Given the description of an element on the screen output the (x, y) to click on. 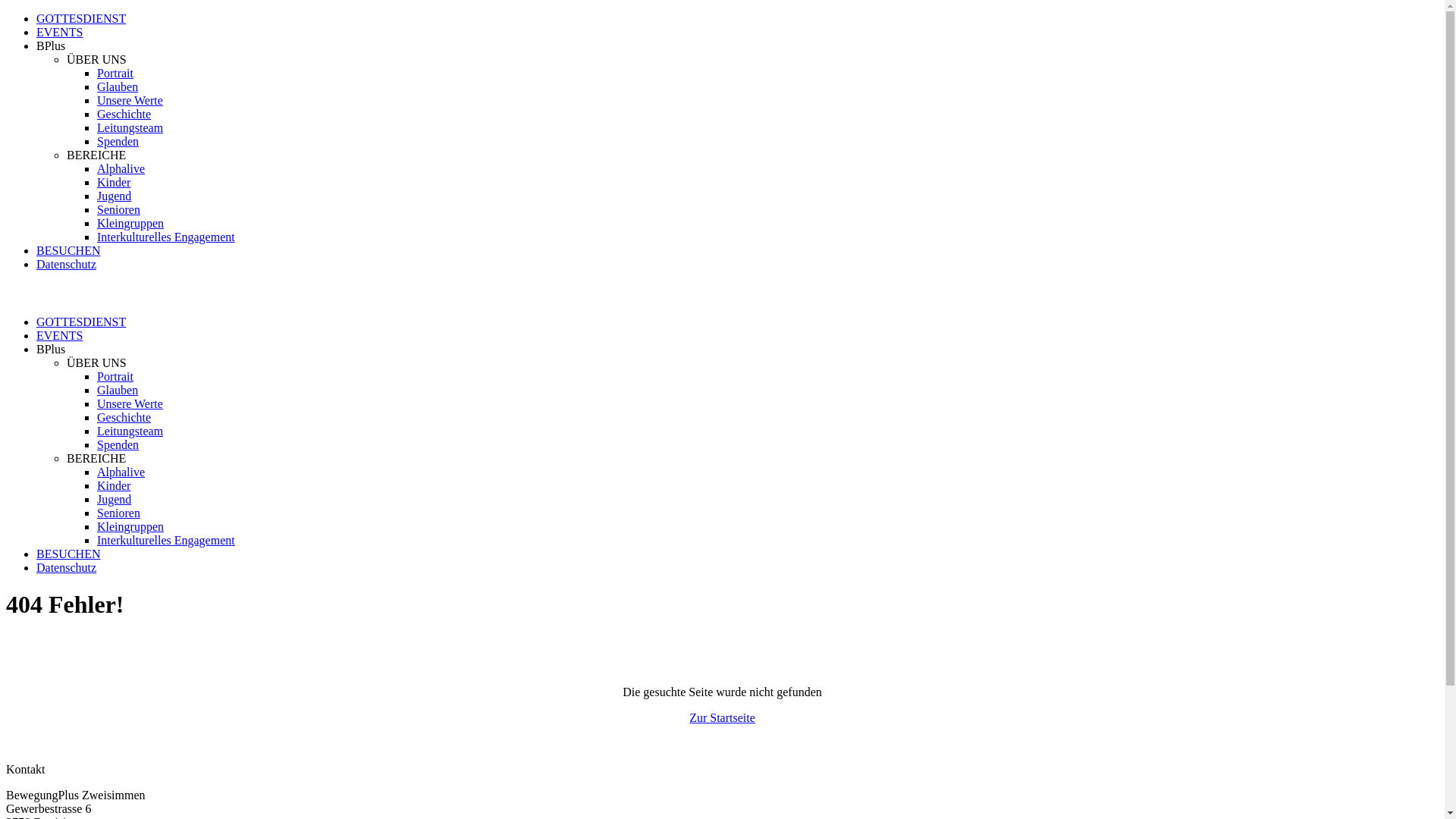
BESUCHEN Element type: text (68, 250)
Spenden Element type: text (117, 140)
Unsere Werte Element type: text (130, 100)
BESUCHEN Element type: text (68, 553)
Zur Startseite Element type: text (722, 717)
Interkulturelles Engagement Element type: text (166, 539)
Glauben Element type: text (117, 389)
Geschichte Element type: text (123, 113)
Jugend Element type: text (114, 498)
Senioren Element type: text (118, 512)
Alphalive Element type: text (120, 471)
Datenschutz Element type: text (66, 263)
Portrait Element type: text (115, 72)
Leitungsteam Element type: text (130, 127)
EVENTS Element type: text (59, 335)
Kinder Element type: text (113, 485)
Portrait Element type: text (115, 376)
EVENTS Element type: text (59, 31)
Jugend Element type: text (114, 195)
Glauben Element type: text (117, 86)
GOTTESDIENST Element type: text (80, 321)
GOTTESDIENST Element type: text (80, 18)
Leitungsteam Element type: text (130, 430)
Geschichte Element type: text (123, 417)
Kinder Element type: text (113, 181)
Kleingruppen Element type: text (130, 222)
Spenden Element type: text (117, 444)
Unsere Werte Element type: text (130, 403)
Interkulturelles Engagement Element type: text (166, 236)
Senioren Element type: text (118, 209)
Kleingruppen Element type: text (130, 526)
Datenschutz Element type: text (66, 567)
Alphalive Element type: text (120, 168)
